Given the description of an element on the screen output the (x, y) to click on. 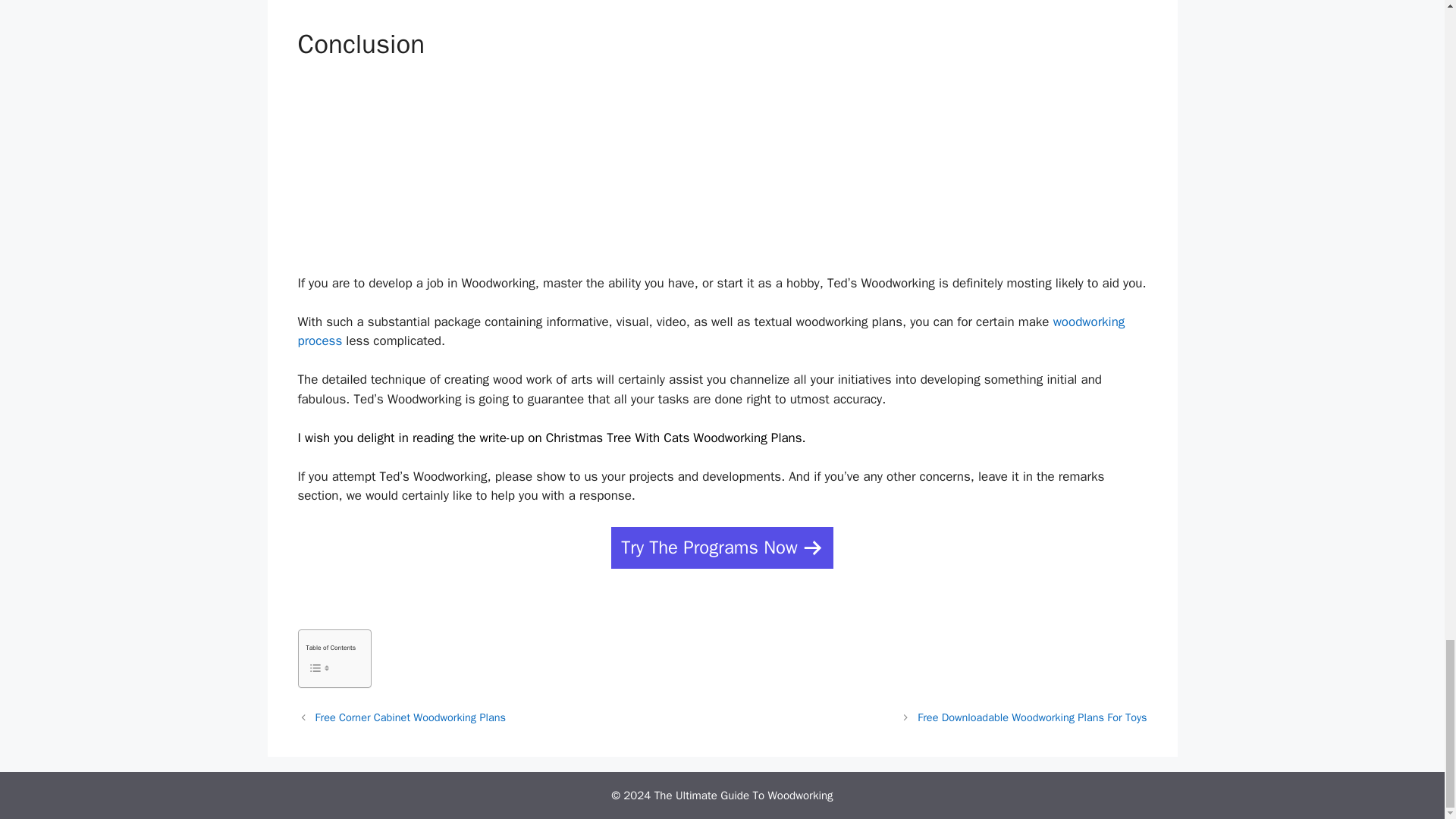
woodworking process (710, 331)
Free Corner Cabinet Woodworking Plans (410, 716)
Free Downloadable Woodworking Plans For Toys (1032, 716)
Try The Programs Now (721, 547)
